Given the description of an element on the screen output the (x, y) to click on. 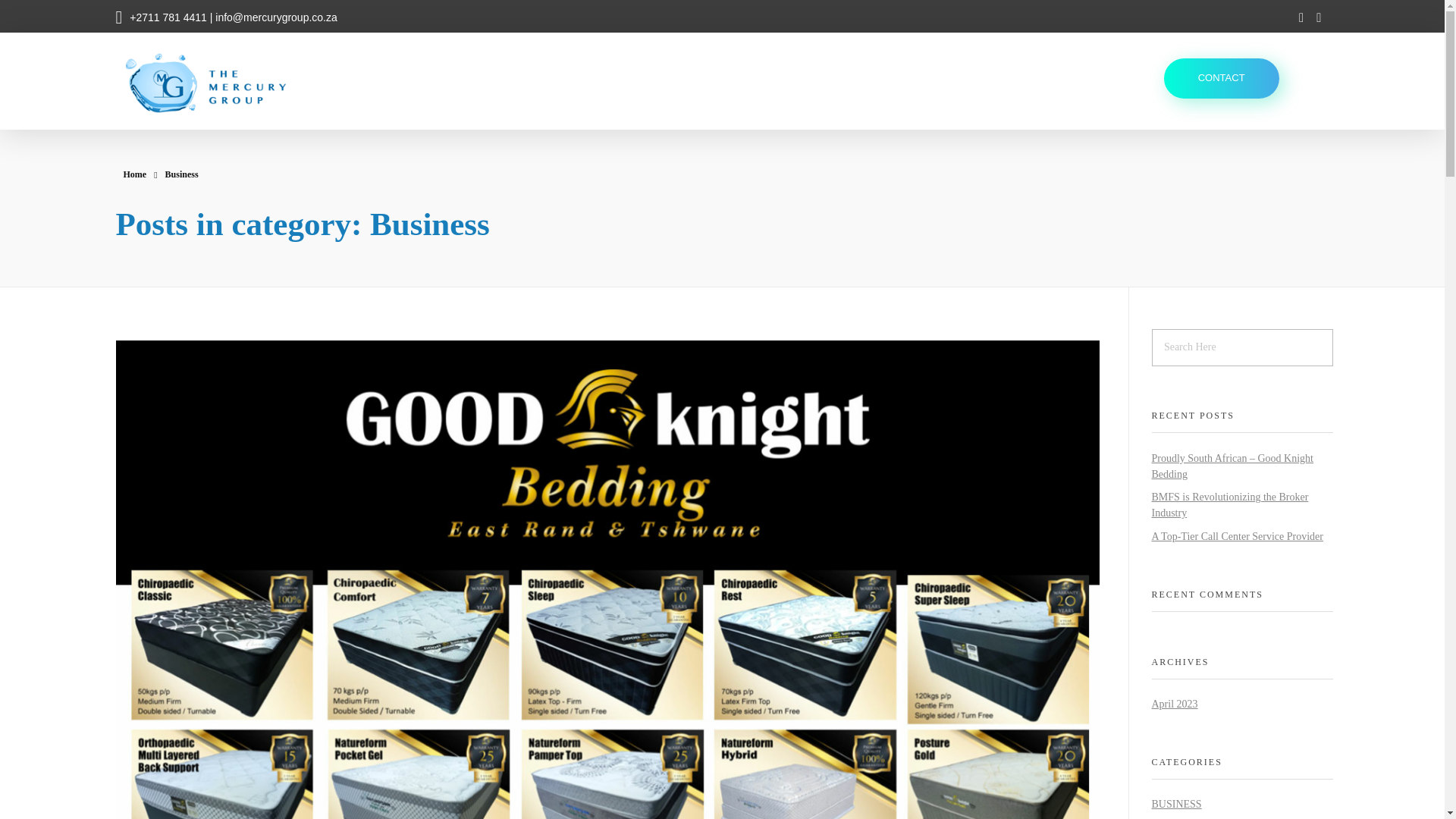
Home (134, 173)
The Mercury Group (202, 122)
The Mercury Group (202, 122)
CONTACT (1221, 78)
The Mercury Group (219, 82)
Home (134, 173)
